Given the description of an element on the screen output the (x, y) to click on. 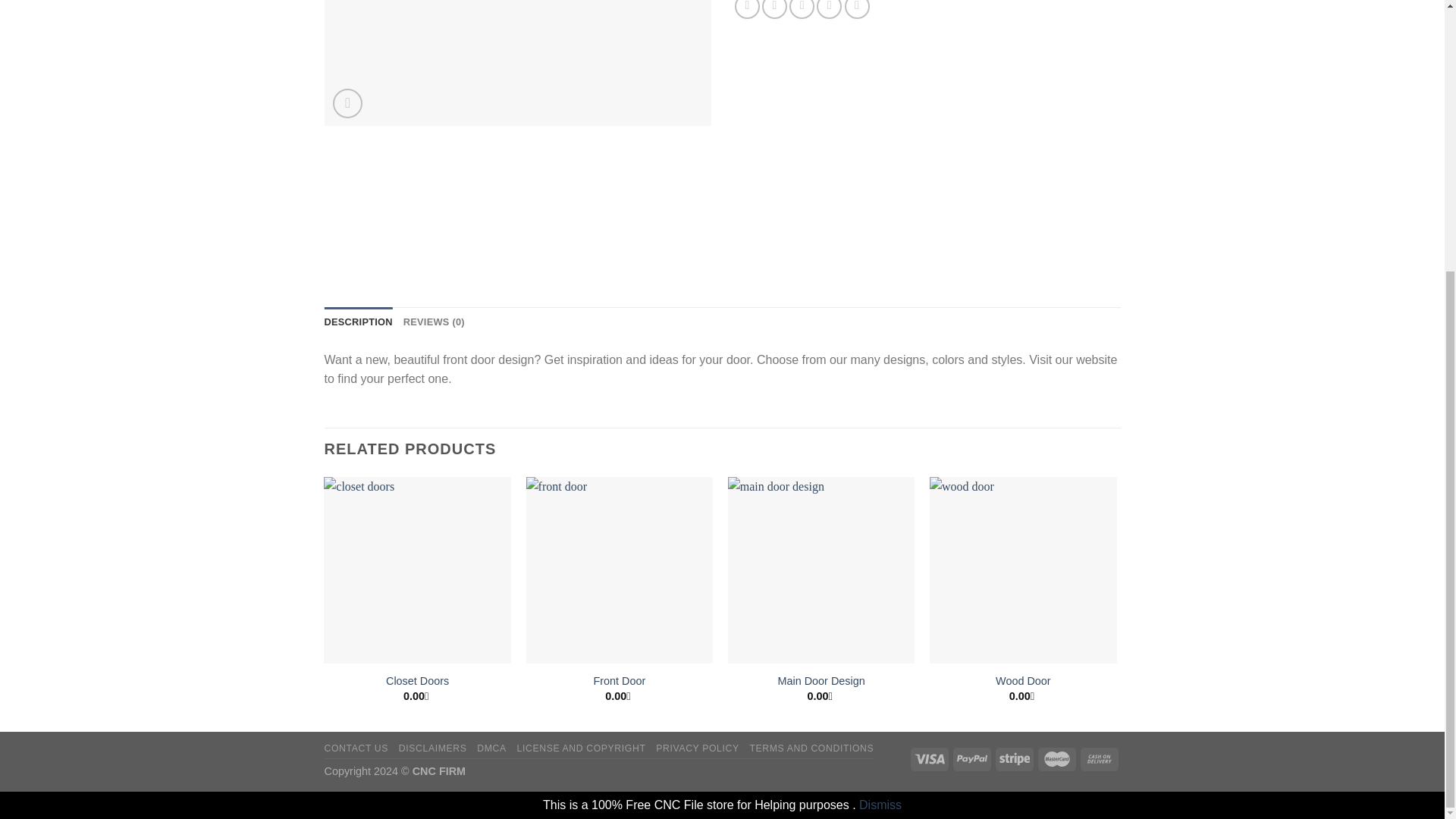
Share on Facebook (747, 9)
Email to a Friend (801, 9)
Share on Twitter (774, 9)
DESCRIPTION (358, 322)
front door design (517, 63)
Zoom (347, 102)
